Given the description of an element on the screen output the (x, y) to click on. 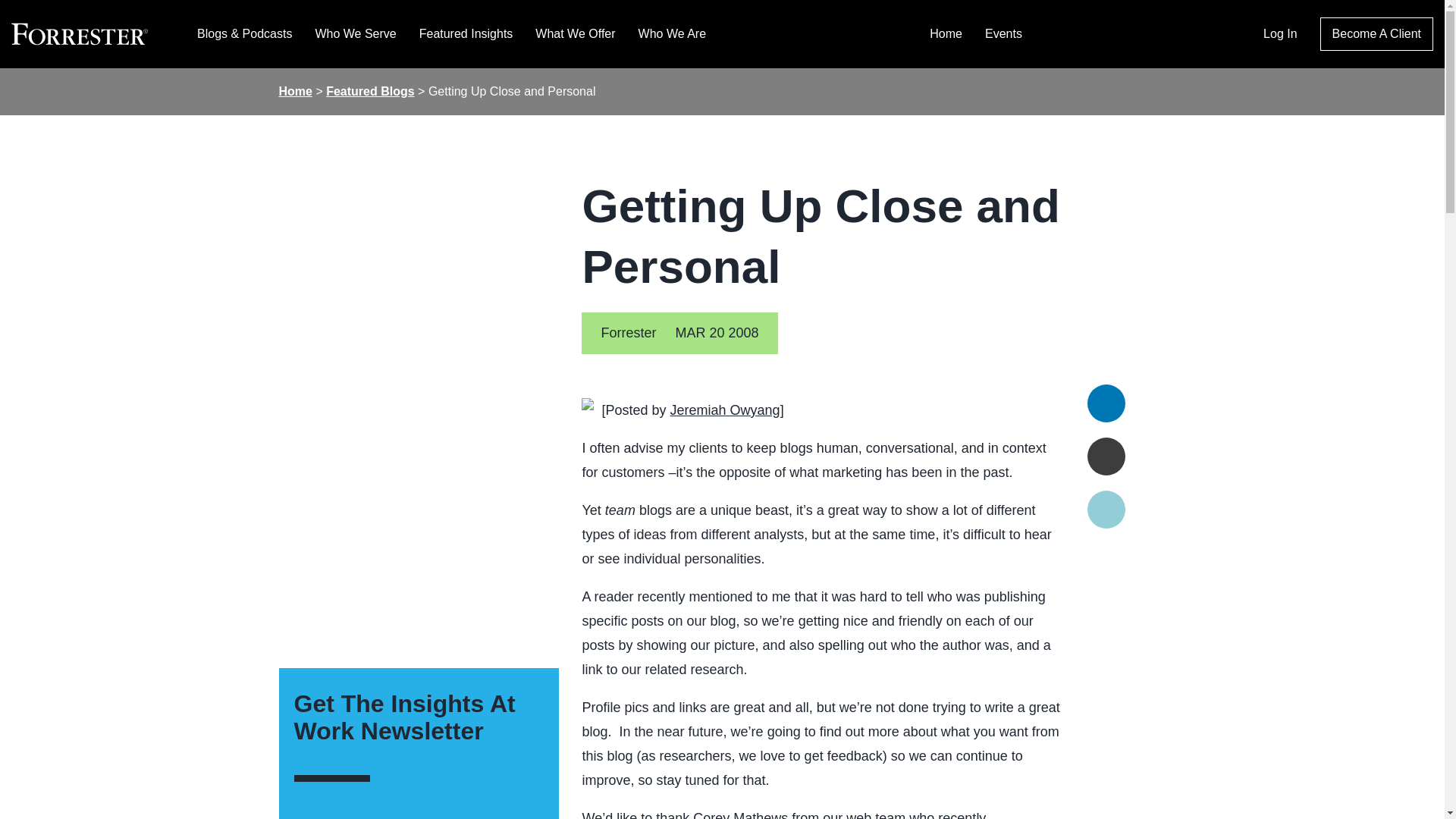
What We Offer (574, 33)
Featured Insights (466, 33)
Who We Serve (355, 33)
